Given the description of an element on the screen output the (x, y) to click on. 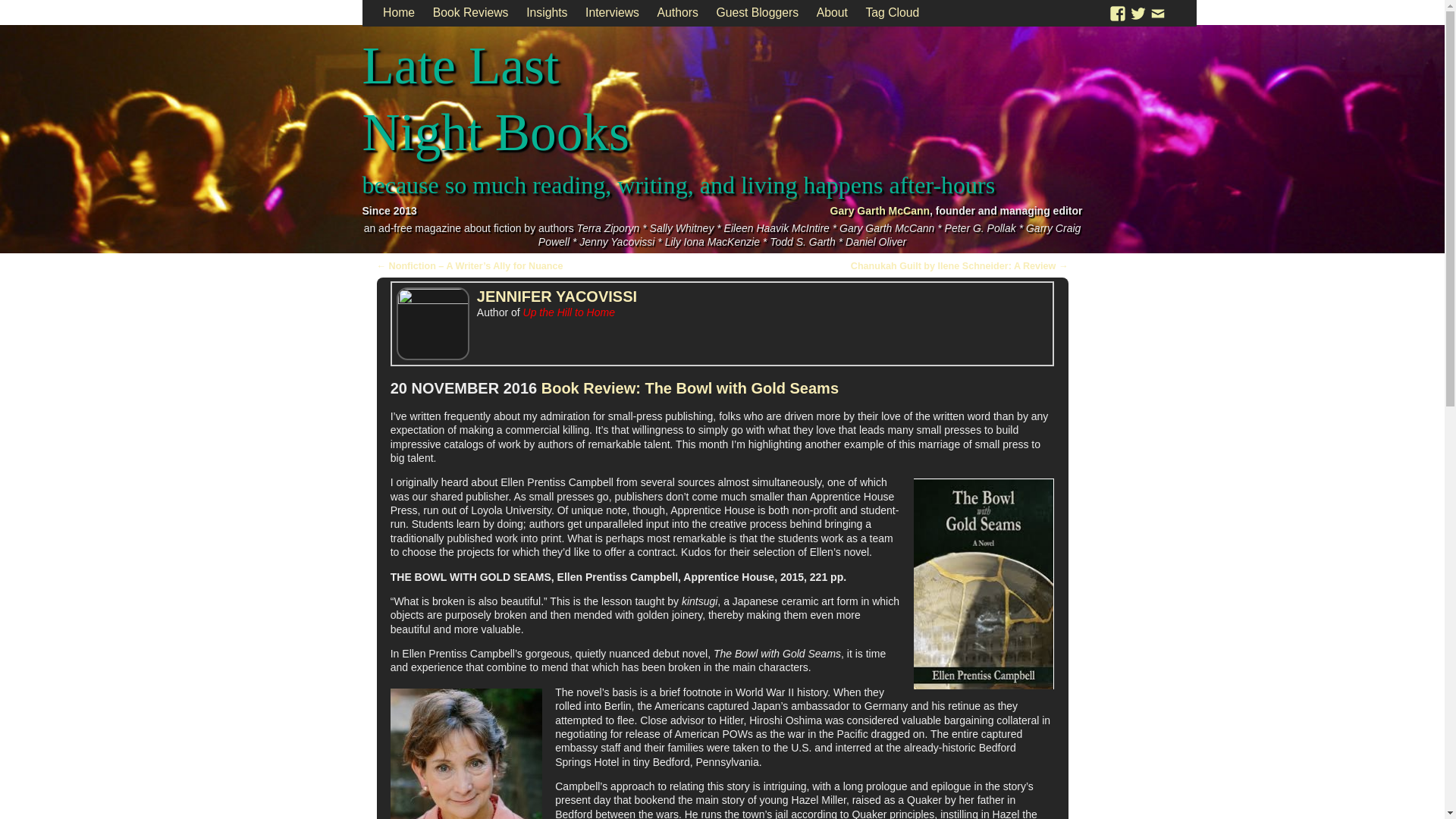
Gary Garth McCann (879, 210)
About (832, 13)
Home (398, 13)
Tag Cloud (892, 13)
Subscribe to receive email updates (1158, 12)
Up the Hill to Home (568, 312)
Interviews (611, 13)
JENNIFER YACOVISSI (557, 296)
Twitter (1138, 12)
Facebook: social networking (1117, 12)
Guest Bloggers (757, 13)
Book Review: The Bowl with Gold Seams (689, 388)
Authors (677, 13)
Book Reviews (469, 13)
Insights (546, 13)
